Given the description of an element on the screen output the (x, y) to click on. 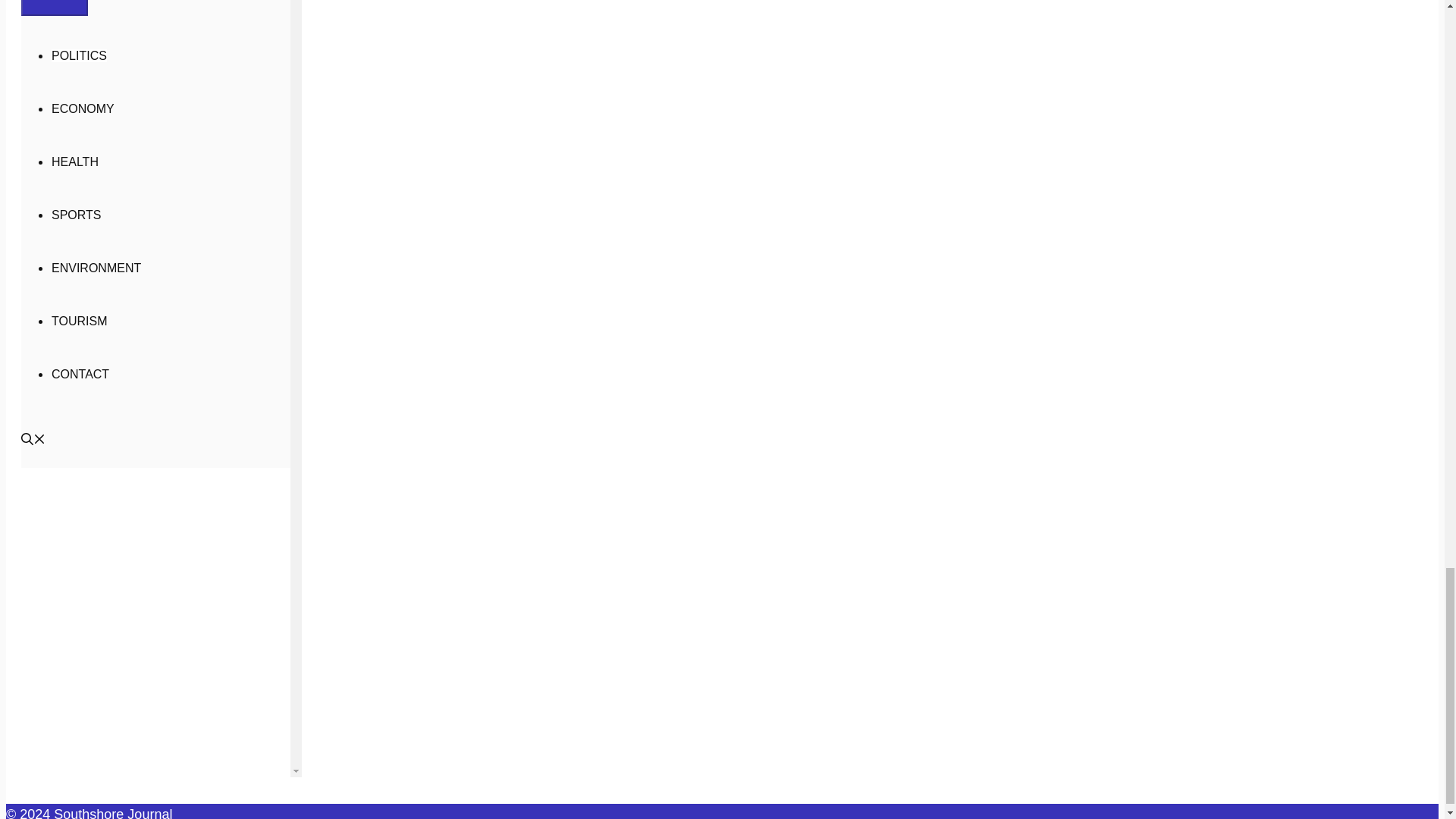
TOURISM (78, 320)
SPORTS (75, 214)
HEALTH (74, 161)
POLITICS (78, 55)
CONTACT (79, 373)
ECONOMY (82, 108)
Menu (54, 7)
ENVIRONMENT (95, 267)
